Given the description of an element on the screen output the (x, y) to click on. 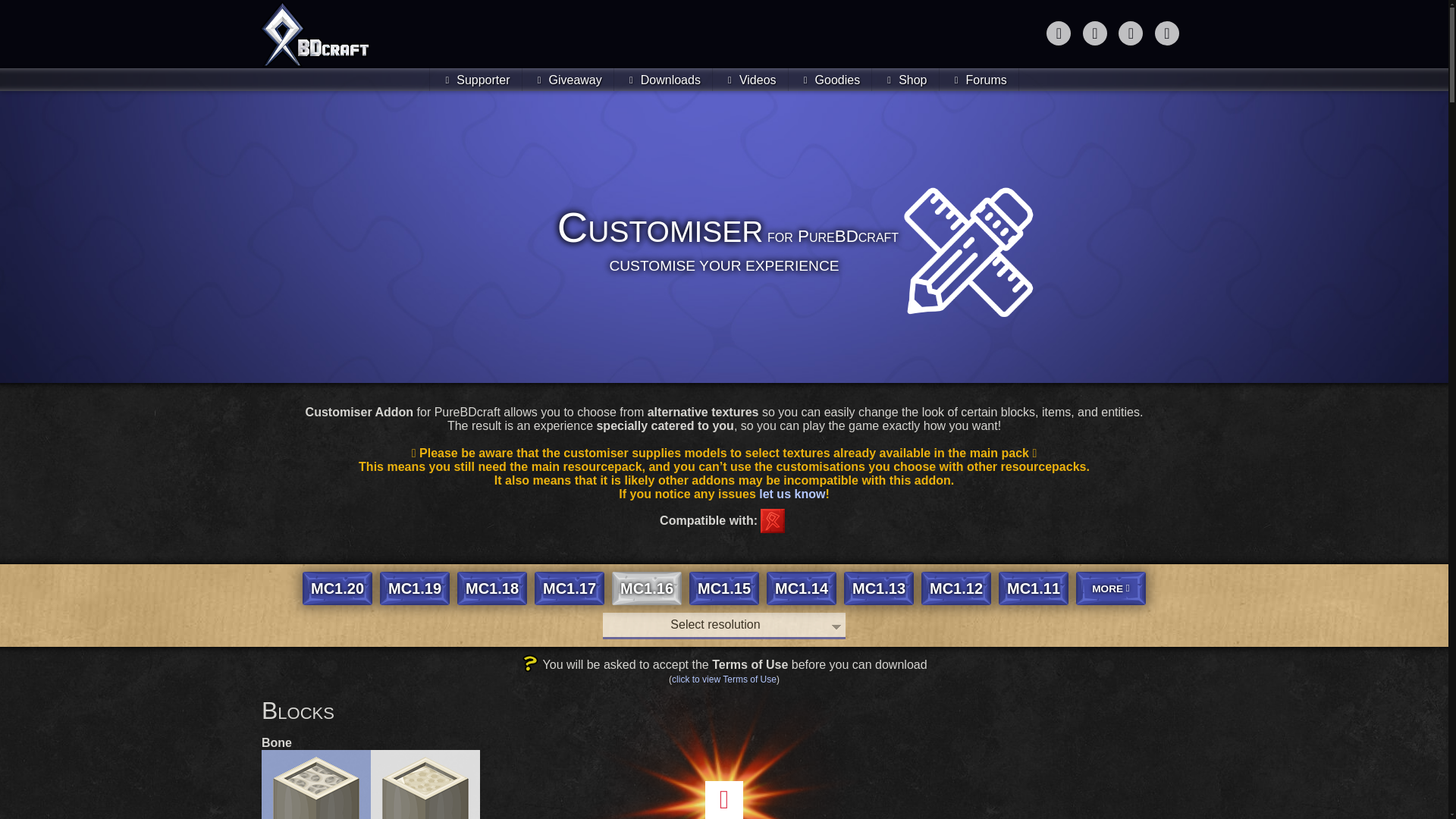
MC1.13 (879, 588)
MC1.18 (492, 588)
Forums (979, 78)
Giveaway (566, 78)
Shop (904, 78)
Supporter (475, 78)
Show MC1.17 (569, 588)
PureBDcraft (772, 520)
Downloads (662, 78)
YouTube (1130, 33)
BDcraft.net (314, 33)
MC1.14 (801, 588)
MC1.11 (1033, 588)
let us know (791, 493)
Videos (750, 78)
